Given the description of an element on the screen output the (x, y) to click on. 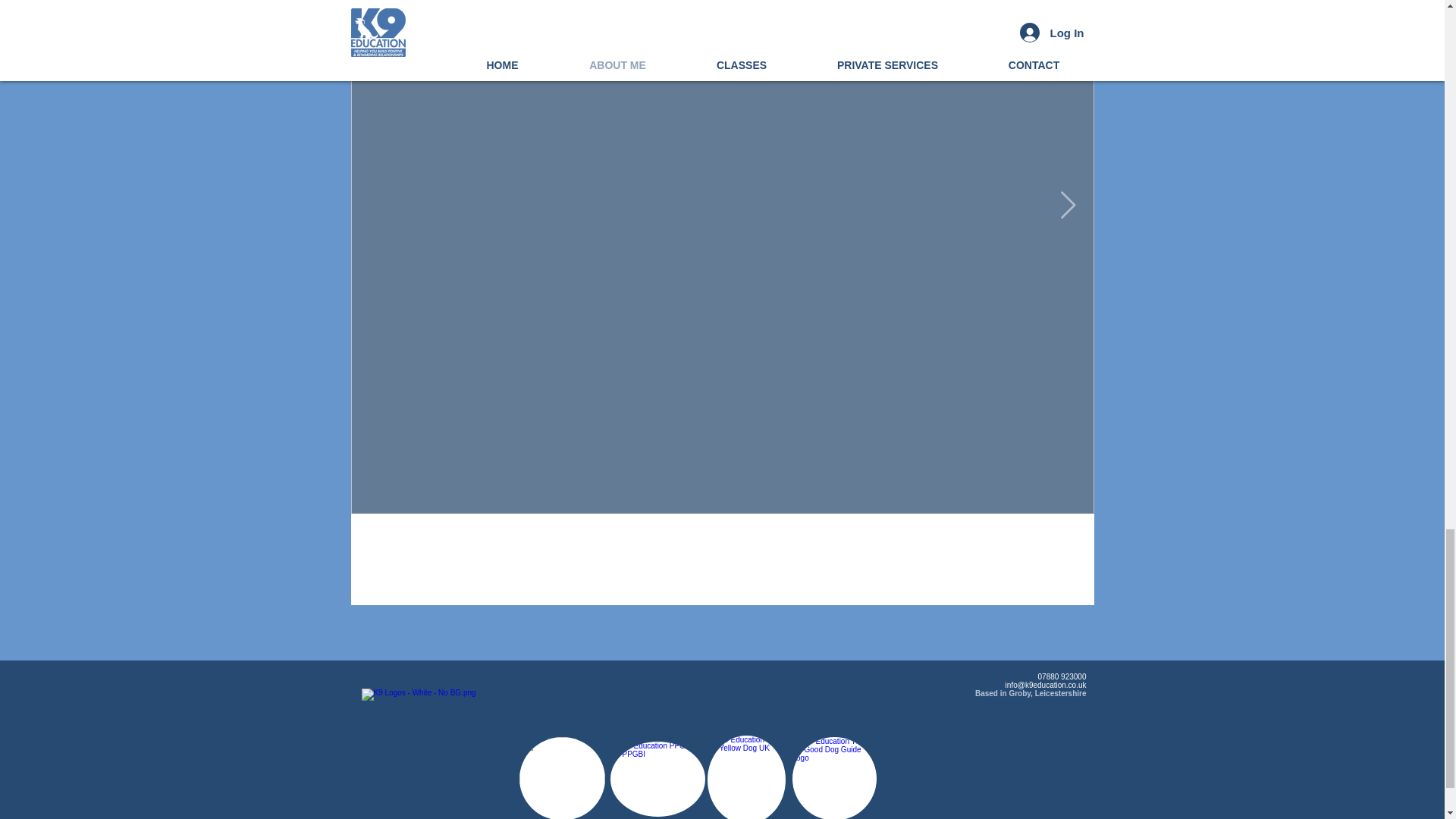
K9 Logos - Colour - No BG.png (437, 753)
